Given the description of an element on the screen output the (x, y) to click on. 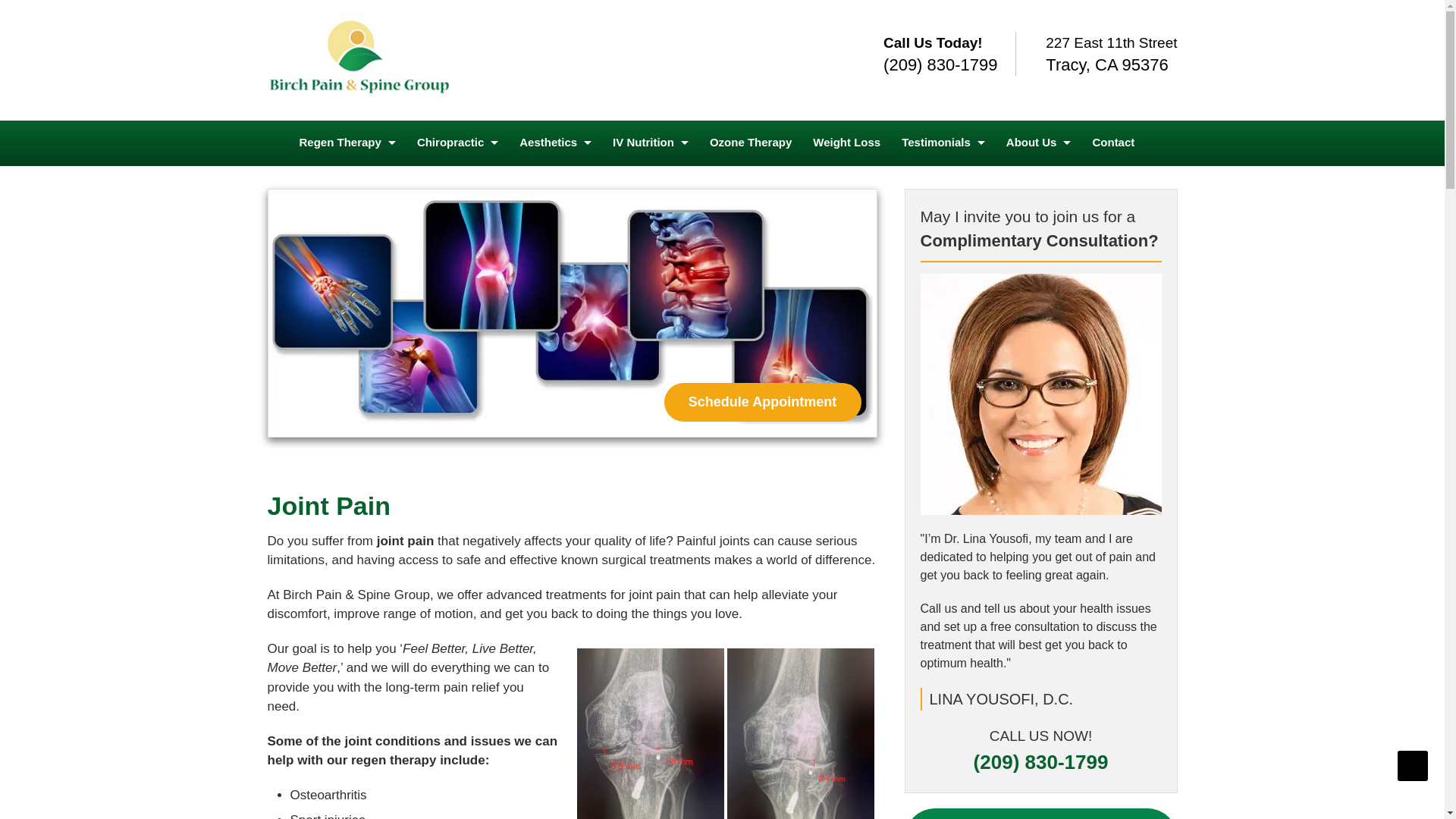
Regen Therapy (347, 143)
Weight Loss (846, 143)
Schedule Appointment (762, 402)
Back to the Top (1412, 766)
Home (358, 60)
IV Nutrition (650, 143)
Chiropractic (457, 143)
About Us (1038, 143)
Contact (1112, 143)
Aesthetics (555, 143)
Ozone Therapy (750, 143)
Testimonials (943, 143)
